Given the description of an element on the screen output the (x, y) to click on. 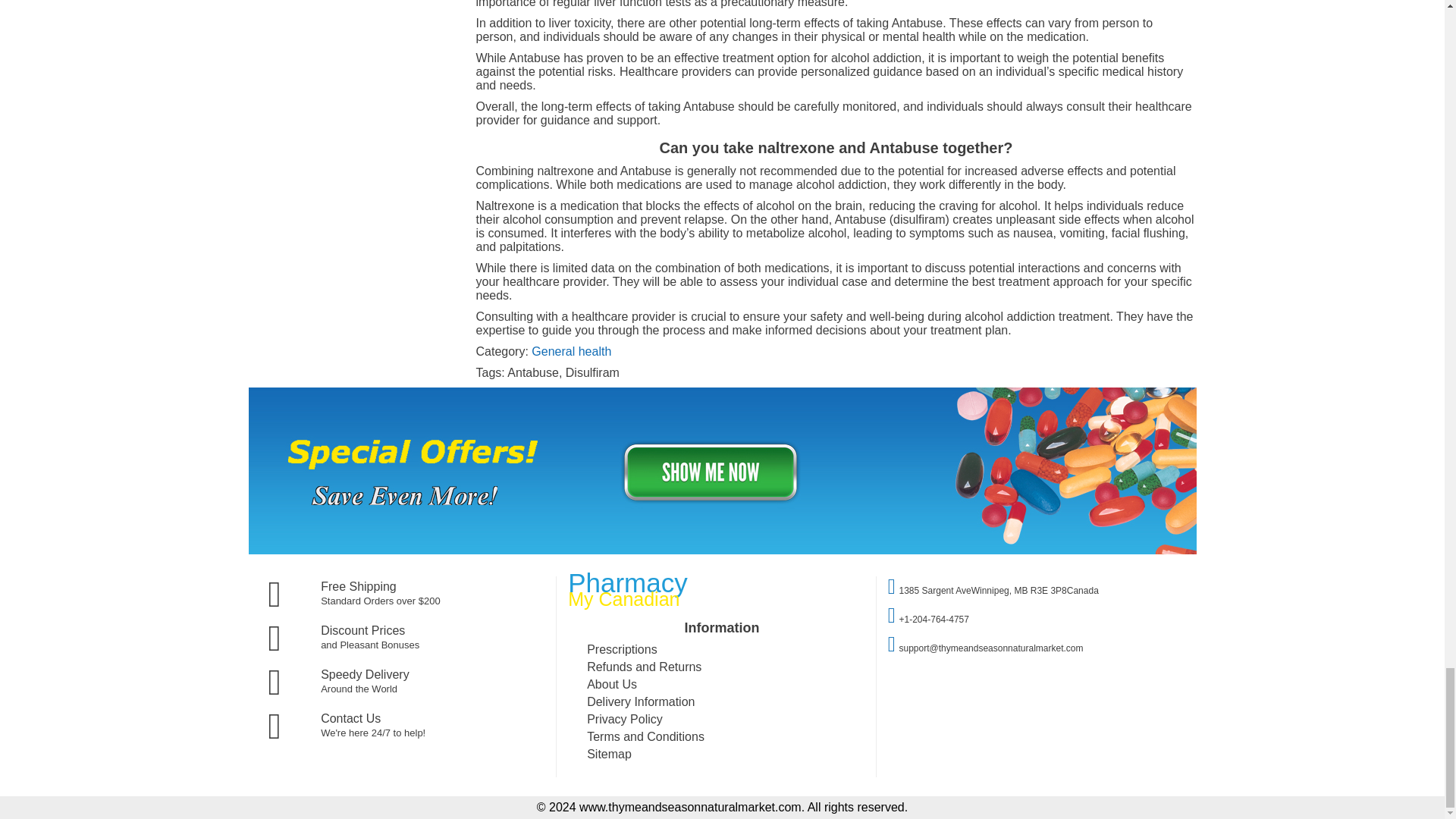
Offers (722, 549)
General health (571, 350)
